Given the description of an element on the screen output the (x, y) to click on. 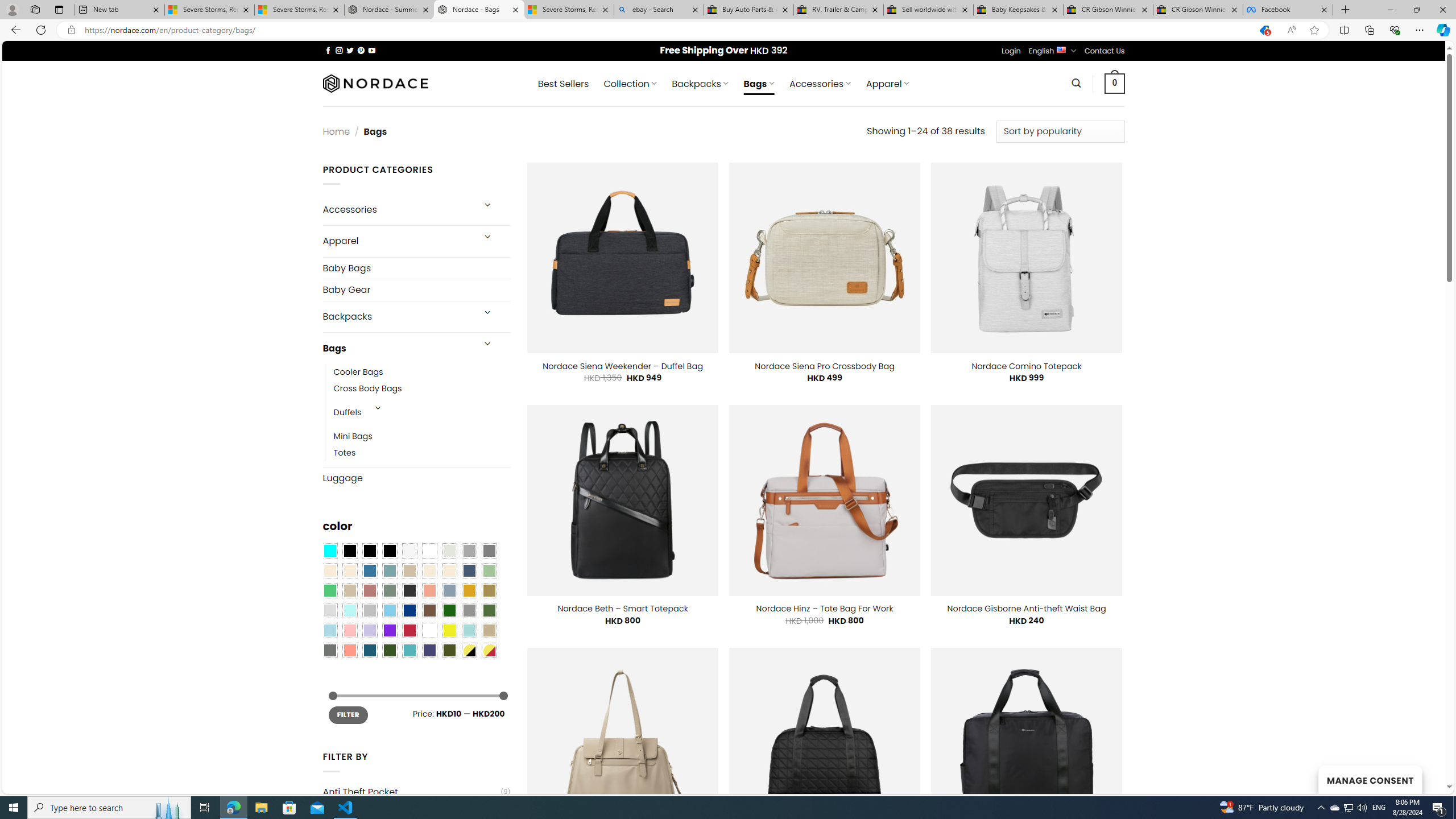
Purple Navy (429, 649)
Light Gray (329, 610)
Black-Brown (389, 550)
Totes (422, 452)
Dusty Blue (449, 590)
Luggage (416, 477)
Blue Sage (389, 570)
Light Taupe (349, 590)
